Given the description of an element on the screen output the (x, y) to click on. 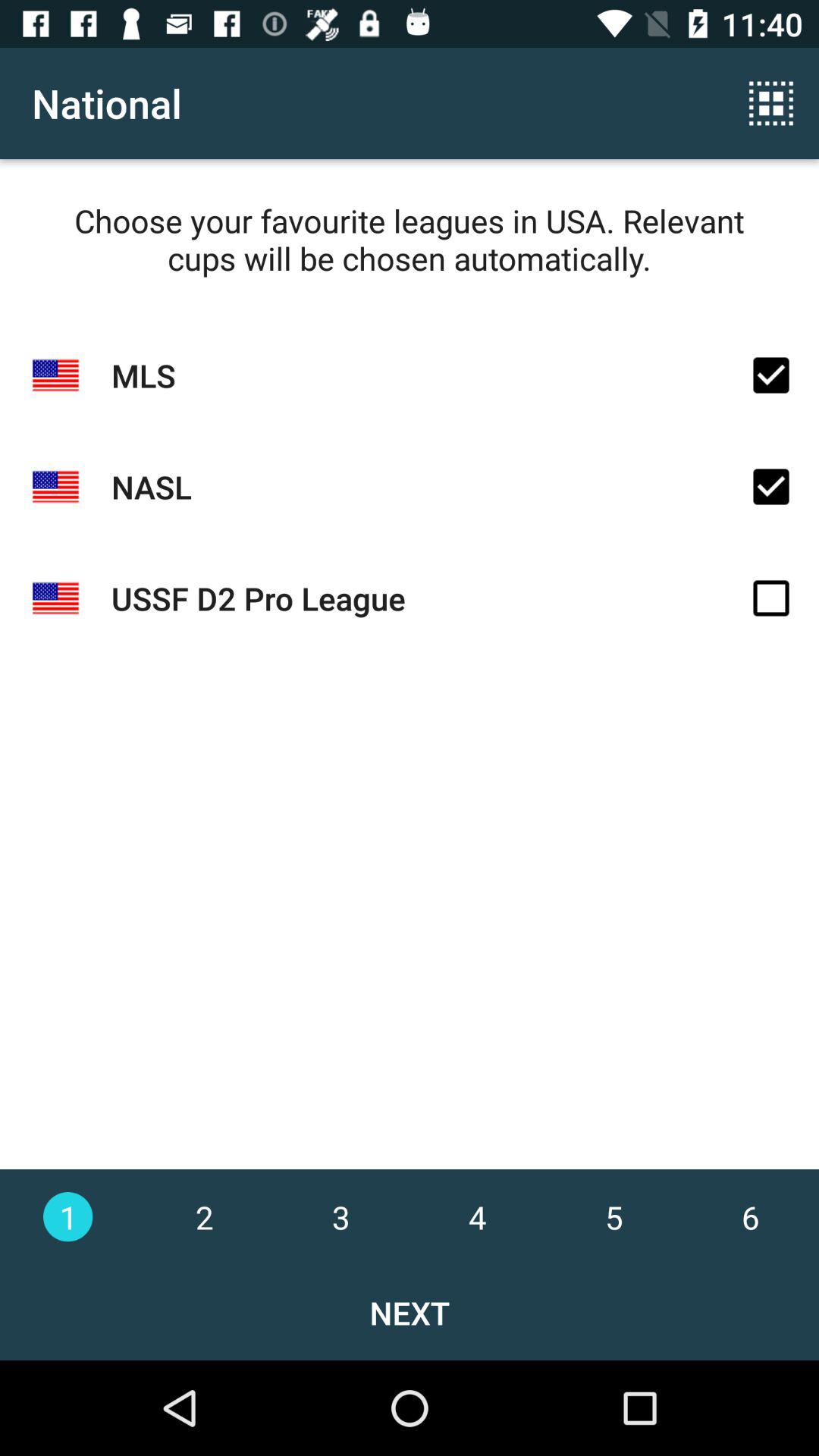
select the icon on the top right corner of the web page (771, 103)
click on 3 at the bottom of the page (341, 1216)
click on the third flag icon from top (55, 599)
click on the second flag icon from top (55, 487)
click on the checkbox right next to nasl (771, 487)
